Given the description of an element on the screen output the (x, y) to click on. 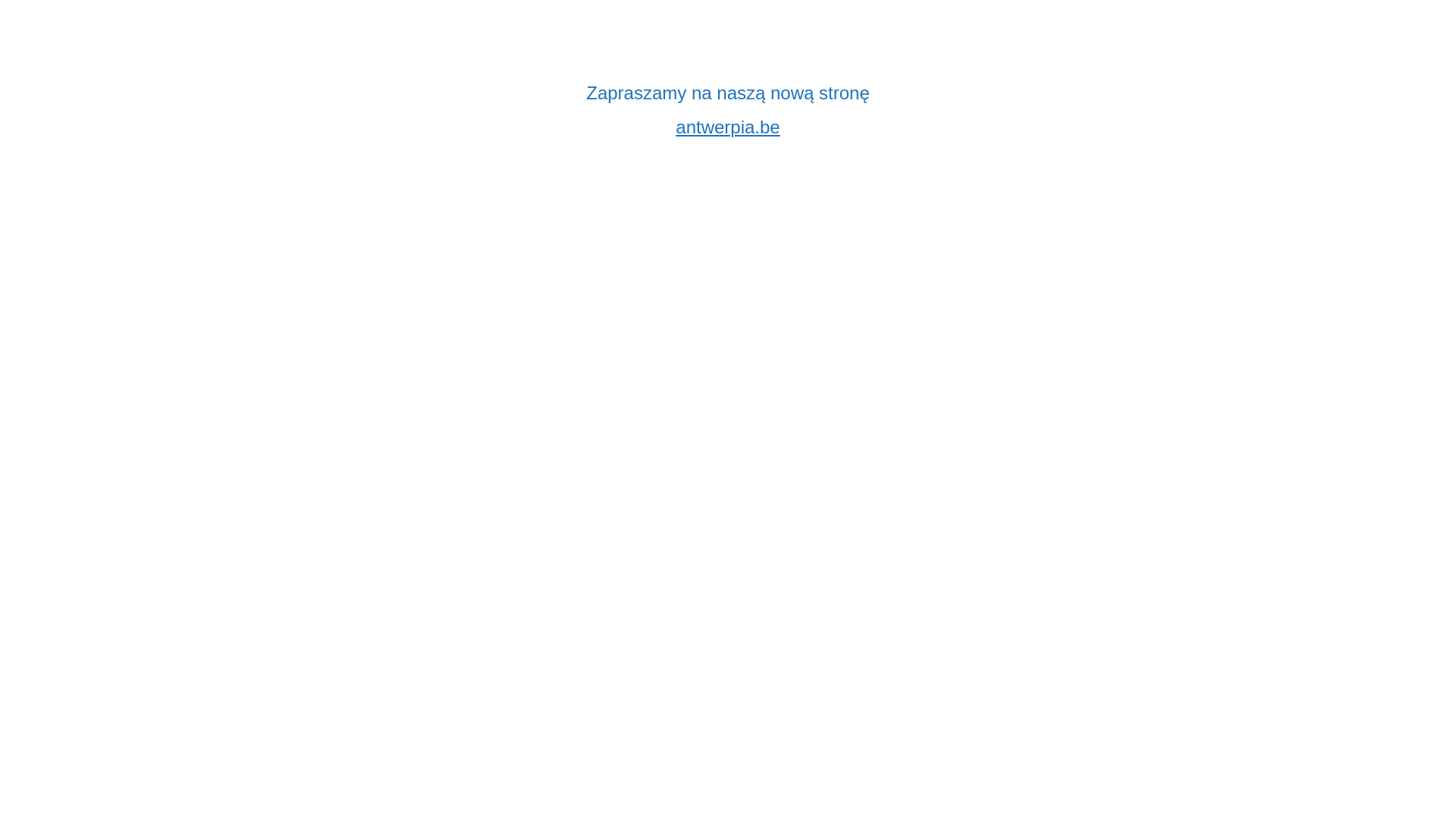
antwerpia.be Element type: text (727, 126)
